Given the description of an element on the screen output the (x, y) to click on. 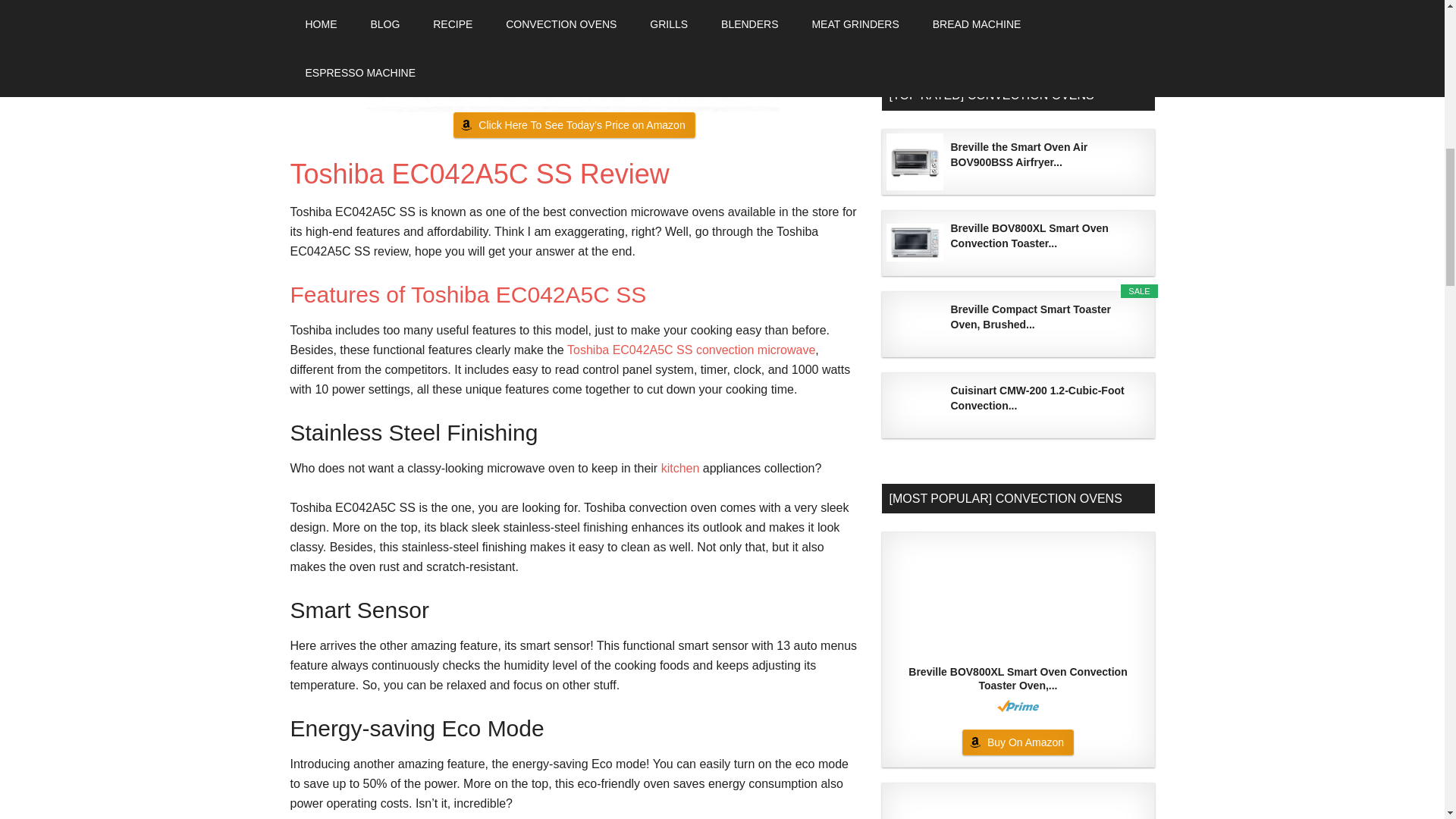
Features of Toshiba EC042A5C SS (467, 294)
kitchen (682, 468)
Toshiba EC042A5C SS convection microwave (691, 349)
Buy On Amazon (1018, 11)
Breville the Smart Oven Air BOV900BSS Airfryer... (1046, 154)
Toshiba EC042A5C SS Review (478, 173)
